Given the description of an element on the screen output the (x, y) to click on. 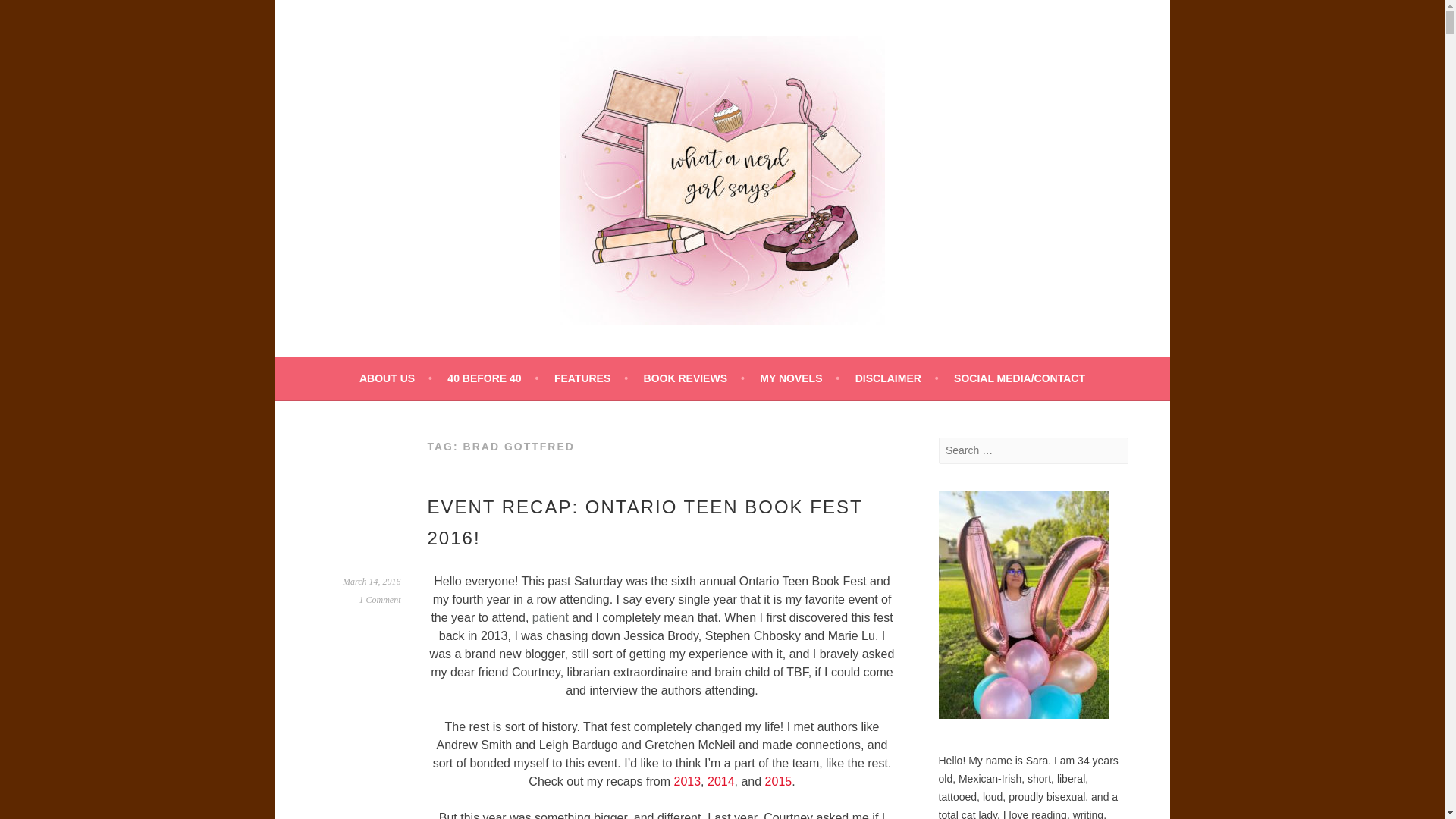
MY NOVELS (800, 378)
Permalink to Event Recap: Ontario Teen Book Fest 2016! (371, 581)
patient (550, 617)
WHAT A NERD GIRL SAYS (498, 365)
What A Nerd Girl Says (498, 365)
March 14, 2016 (371, 581)
FEATURES (590, 378)
2014 (721, 780)
ABOUT US (395, 378)
2015 (778, 780)
